Given the description of an element on the screen output the (x, y) to click on. 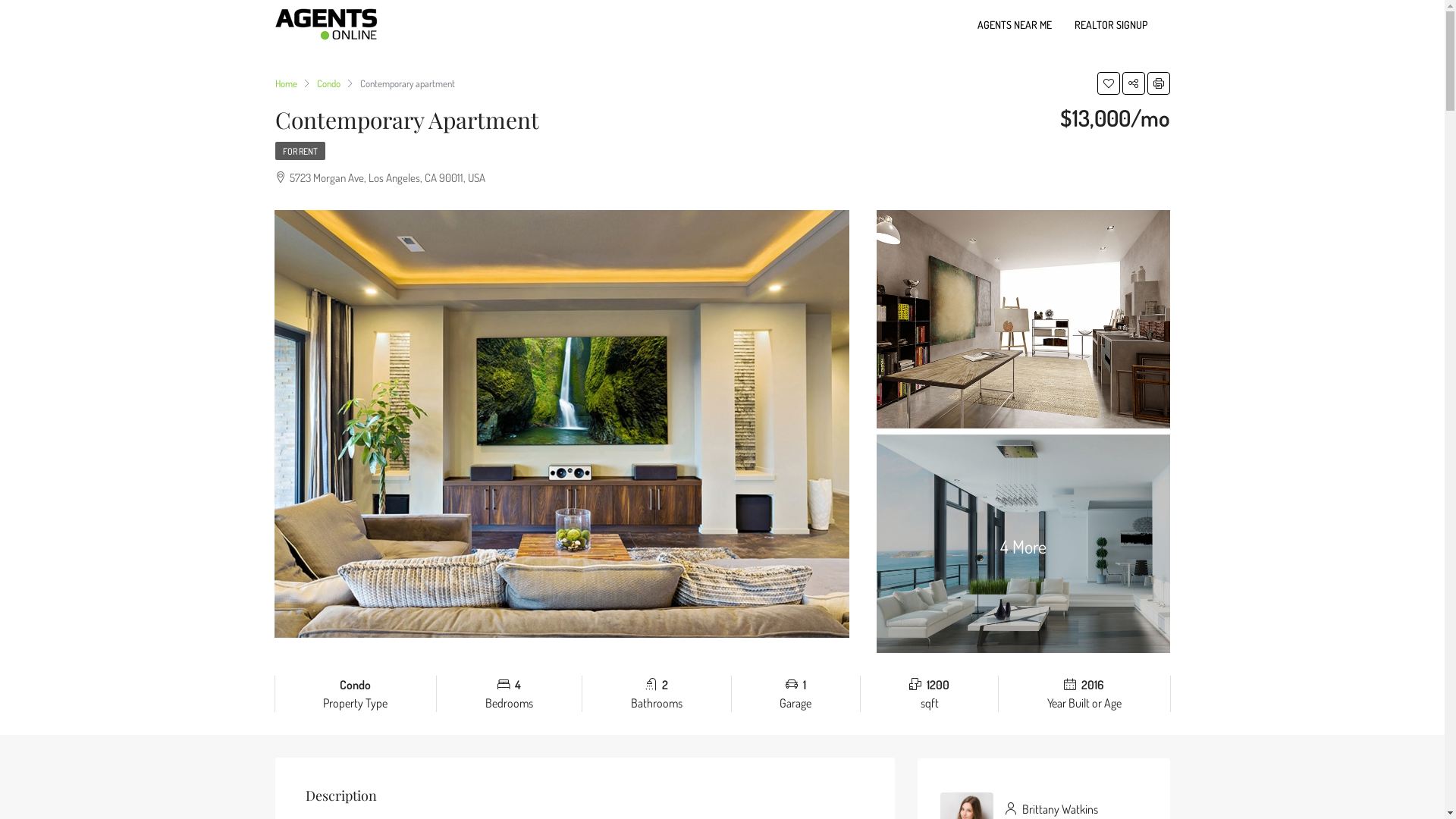
Condo Element type: text (328, 83)
FOR RENT Element type: text (299, 150)
AGENTS NEAR ME Element type: text (1014, 24)
Home Element type: text (285, 83)
REALTOR SIGNUP Element type: text (1110, 24)
4 More Element type: text (1023, 543)
